Given the description of an element on the screen output the (x, y) to click on. 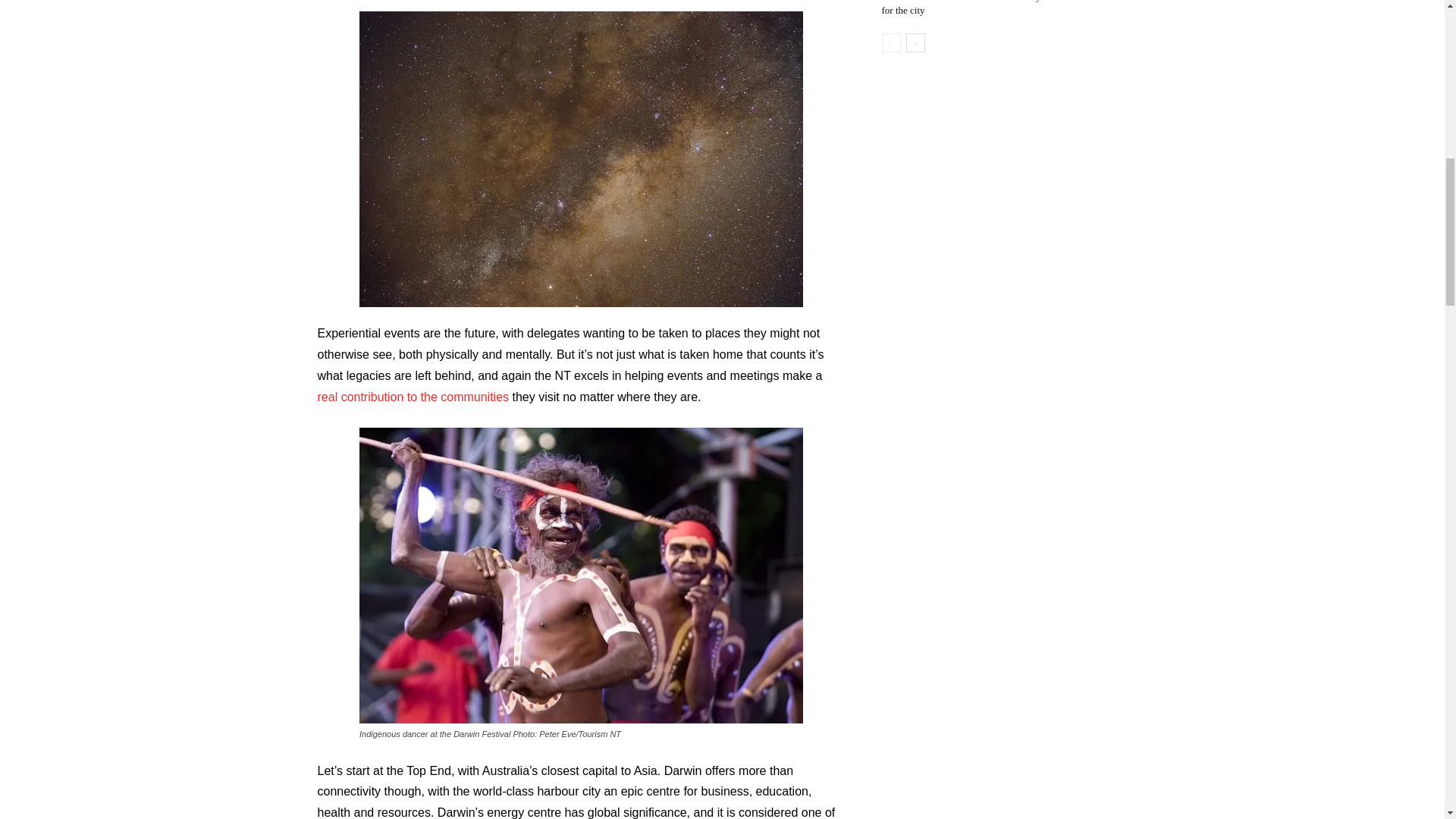
real contribution to the communities (412, 396)
